Given the description of an element on the screen output the (x, y) to click on. 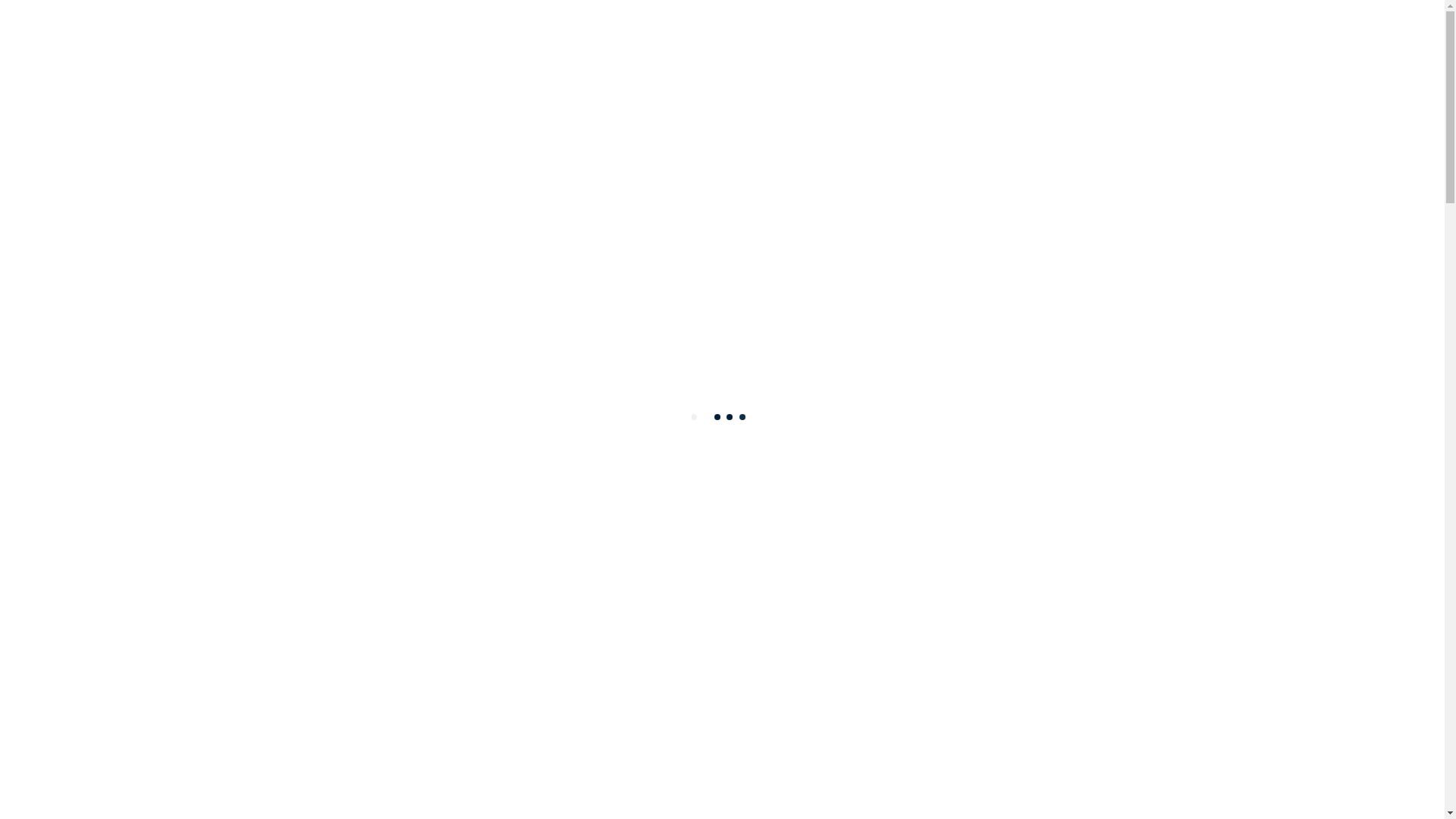
BLOG Element type: text (62, 351)
